Given the description of an element on the screen output the (x, y) to click on. 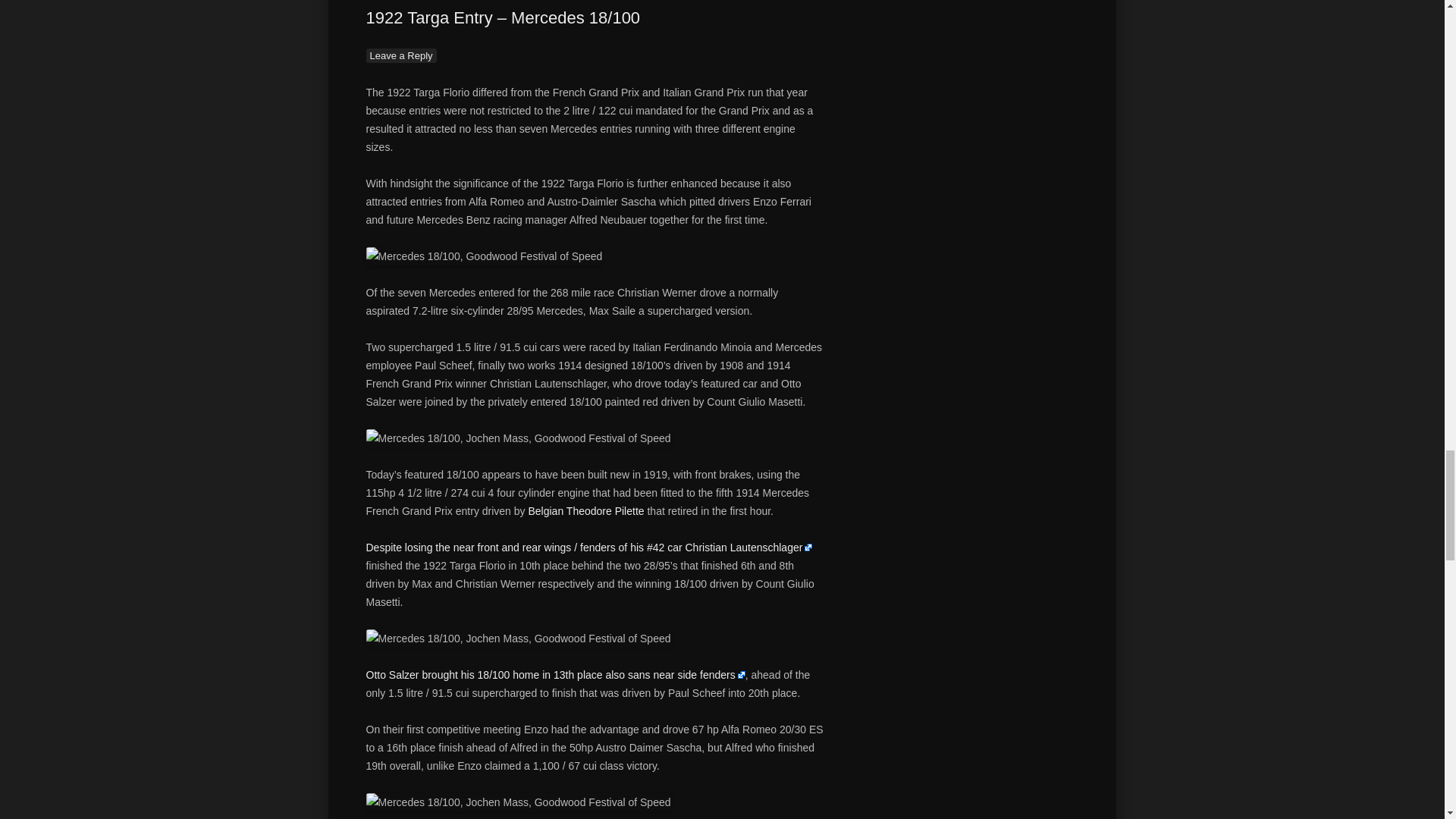
Belgian Theodore Pilette (585, 510)
Leave a Reply (400, 55)
